Given the description of an element on the screen output the (x, y) to click on. 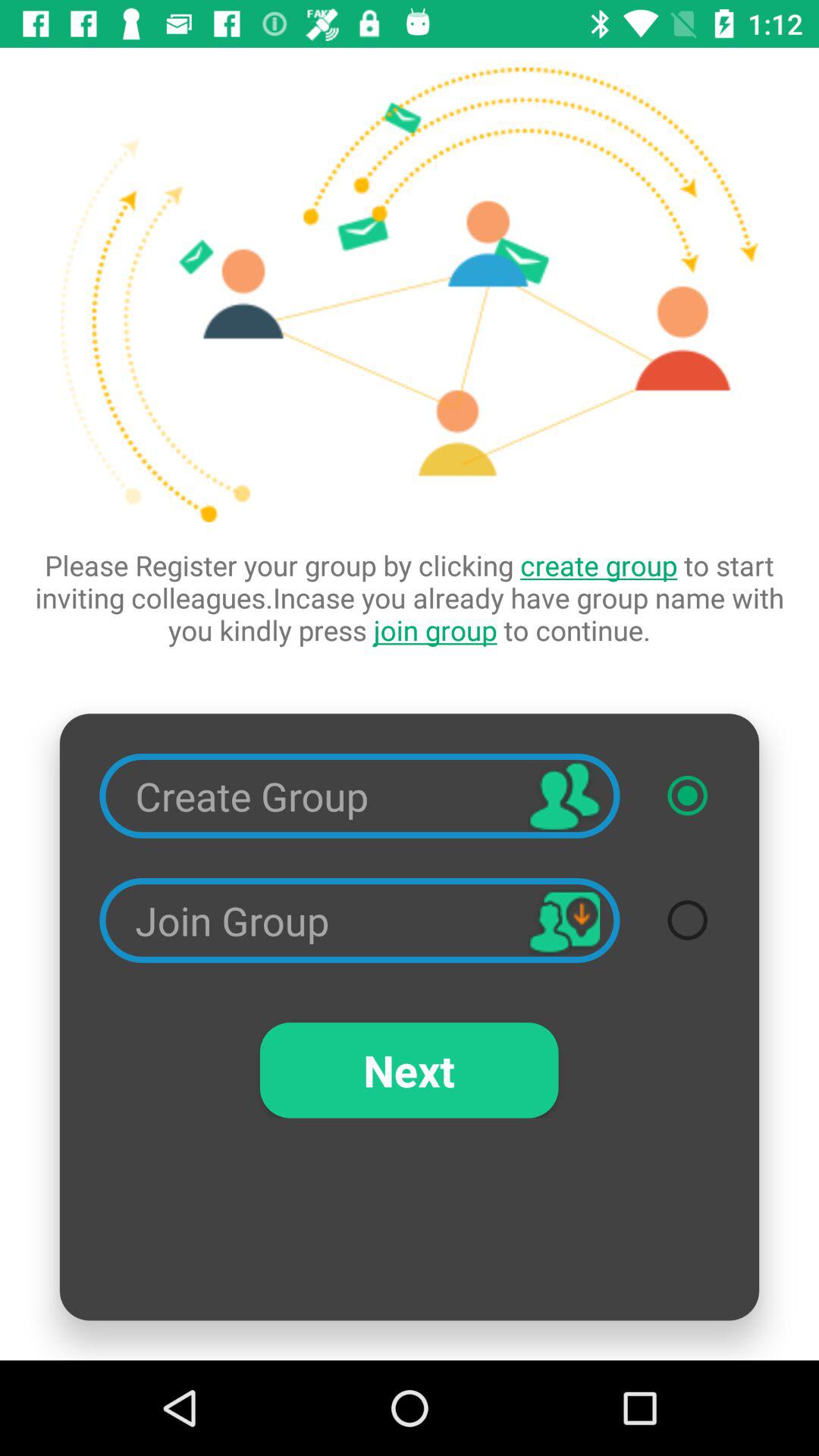
launch please register your item (409, 597)
